Given the description of an element on the screen output the (x, y) to click on. 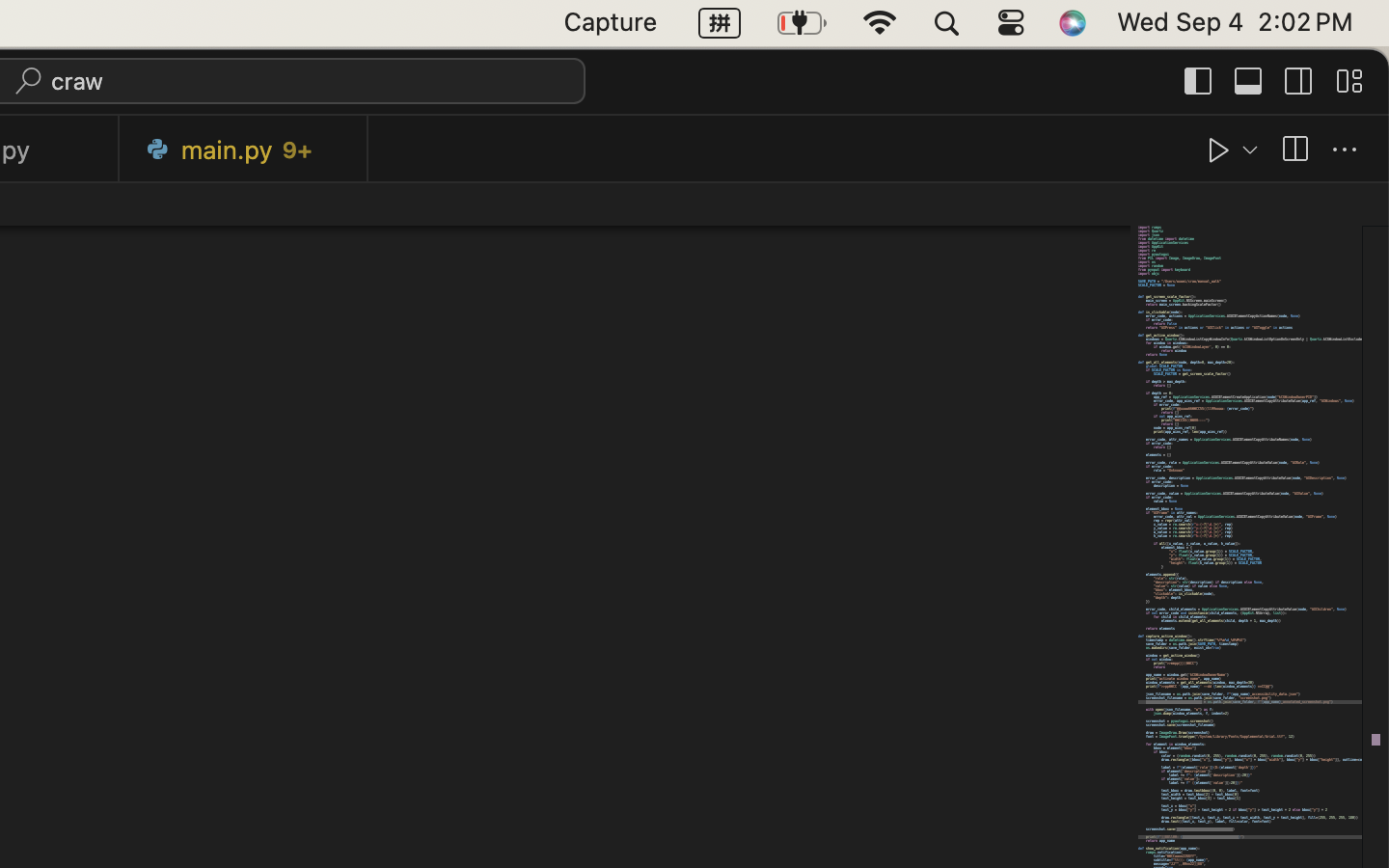
0 main.py   9+ Element type: AXRadioButton (243, 149)
 Element type: AXCheckBox (1299, 80)
 Element type: AXGroup (1219, 150)
 Element type: AXStaticText (1344, 150)
 Element type: AXCheckBox (1248, 80)
